Given the description of an element on the screen output the (x, y) to click on. 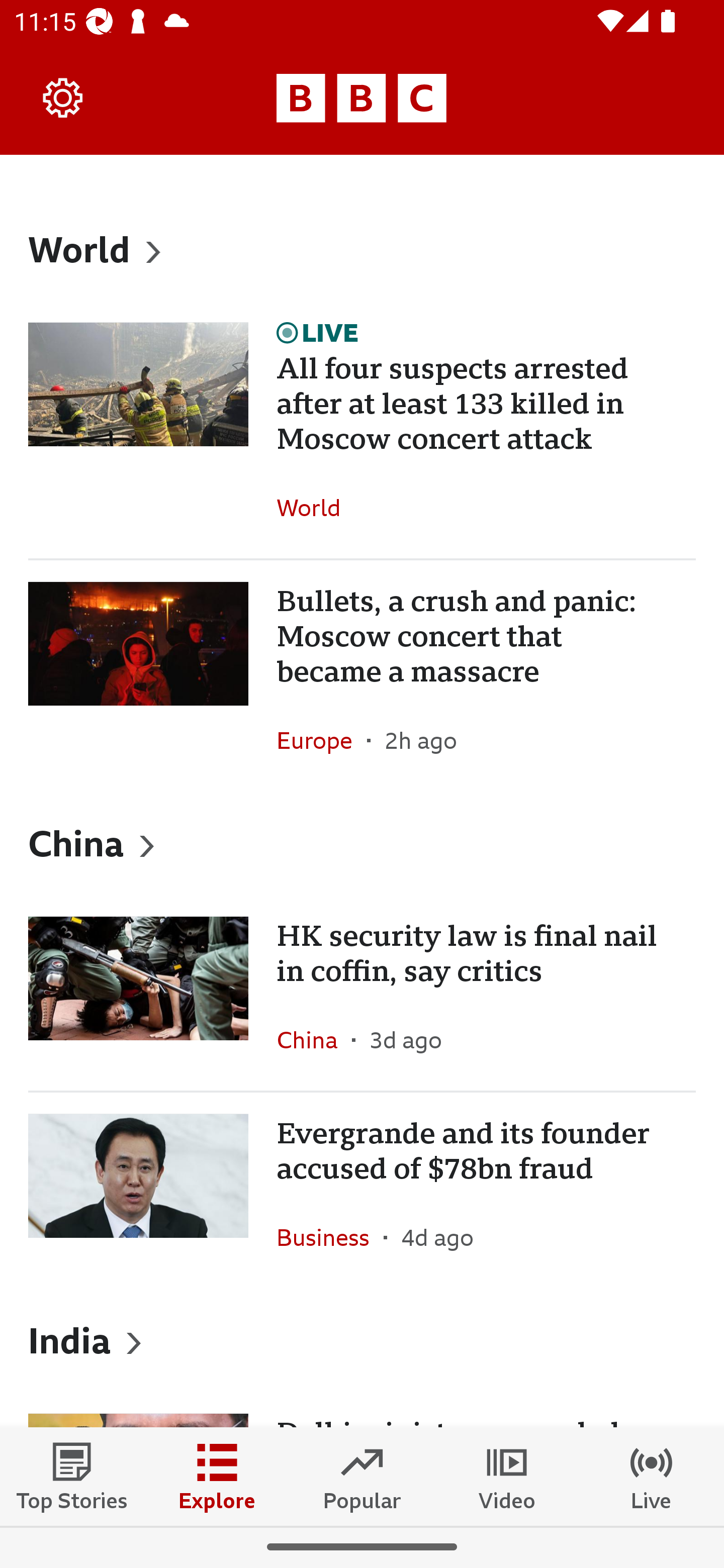
Settings (63, 97)
World, Heading World    (361, 249)
World In the section World (315, 507)
Europe In the section Europe (321, 739)
China, Heading China    (361, 842)
China In the section China (313, 1040)
Business In the section Business (329, 1236)
India, Heading India    (361, 1339)
Top Stories (72, 1475)
Popular (361, 1475)
Video (506, 1475)
Live (651, 1475)
